Given the description of an element on the screen output the (x, y) to click on. 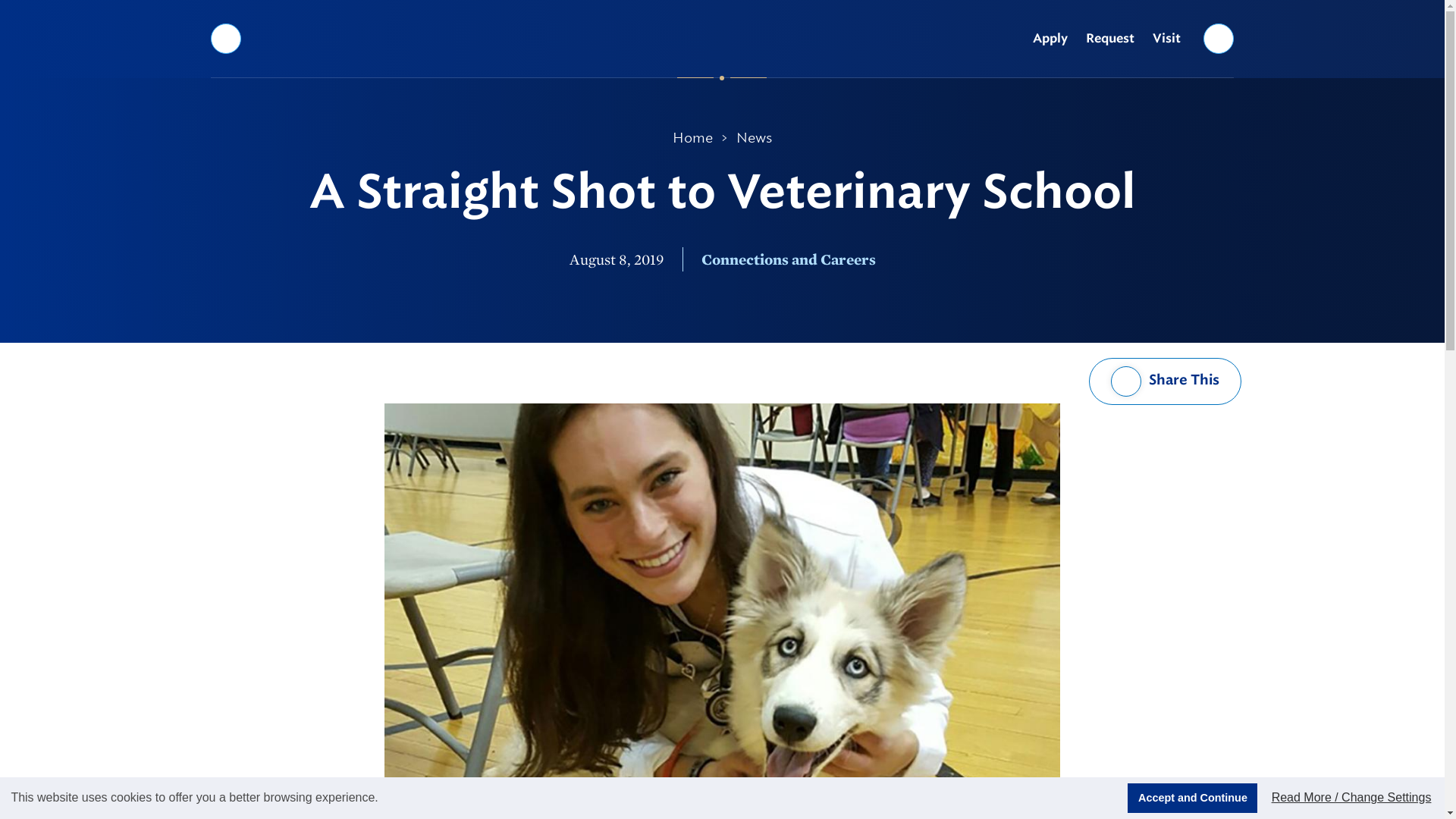
Home (692, 138)
Request (1109, 38)
Apply (1050, 38)
Visit (1165, 38)
Hamilton (721, 38)
Accept and Continue (1191, 797)
Search (1218, 38)
Share This (1165, 380)
News (753, 138)
Connections and Careers (787, 259)
